Given the description of an element on the screen output the (x, y) to click on. 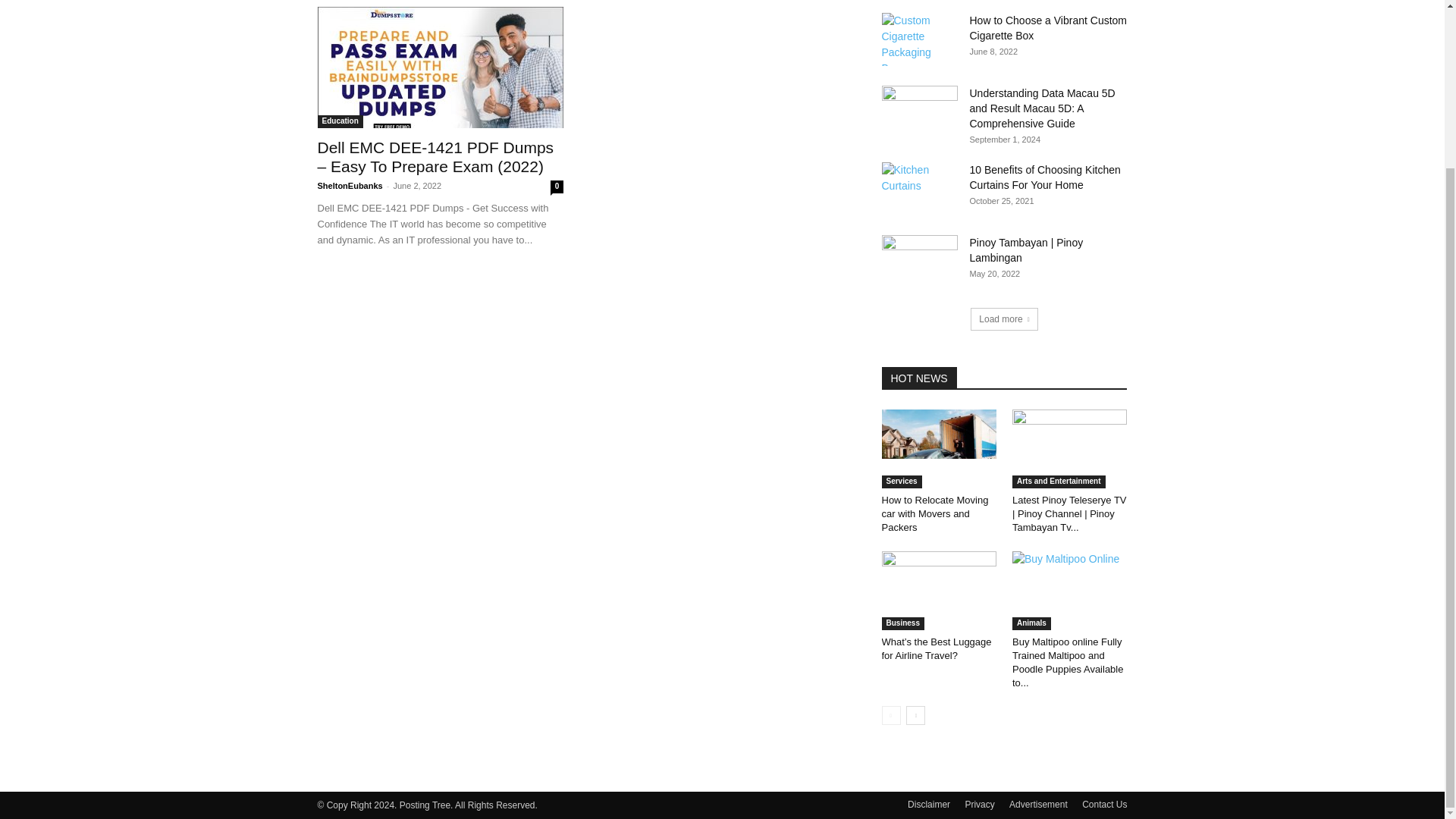
10 Benefits of Choosing Kitchen Curtains For Your Home (1044, 176)
0 (556, 186)
How to Choose a Vibrant Custom Cigarette Box (1047, 27)
Education (339, 121)
SheltonEubanks (349, 185)
How to Choose a Vibrant Custom Cigarette Box (918, 39)
How to Choose a Vibrant Custom Cigarette Box (1047, 27)
